Given the description of an element on the screen output the (x, y) to click on. 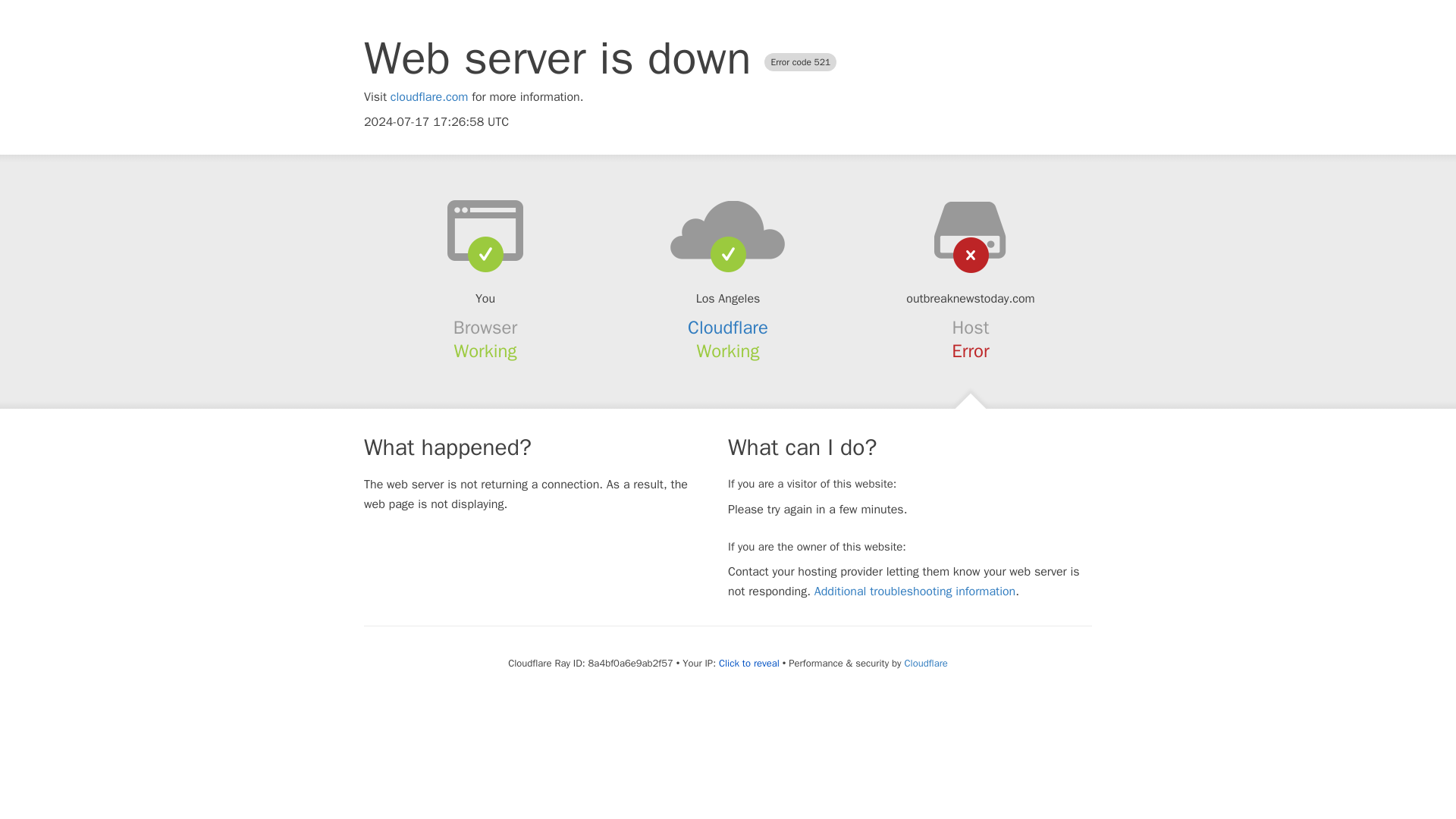
Cloudflare (925, 662)
Click to reveal (748, 663)
Cloudflare (727, 327)
cloudflare.com (429, 96)
Additional troubleshooting information (913, 590)
